Given the description of an element on the screen output the (x, y) to click on. 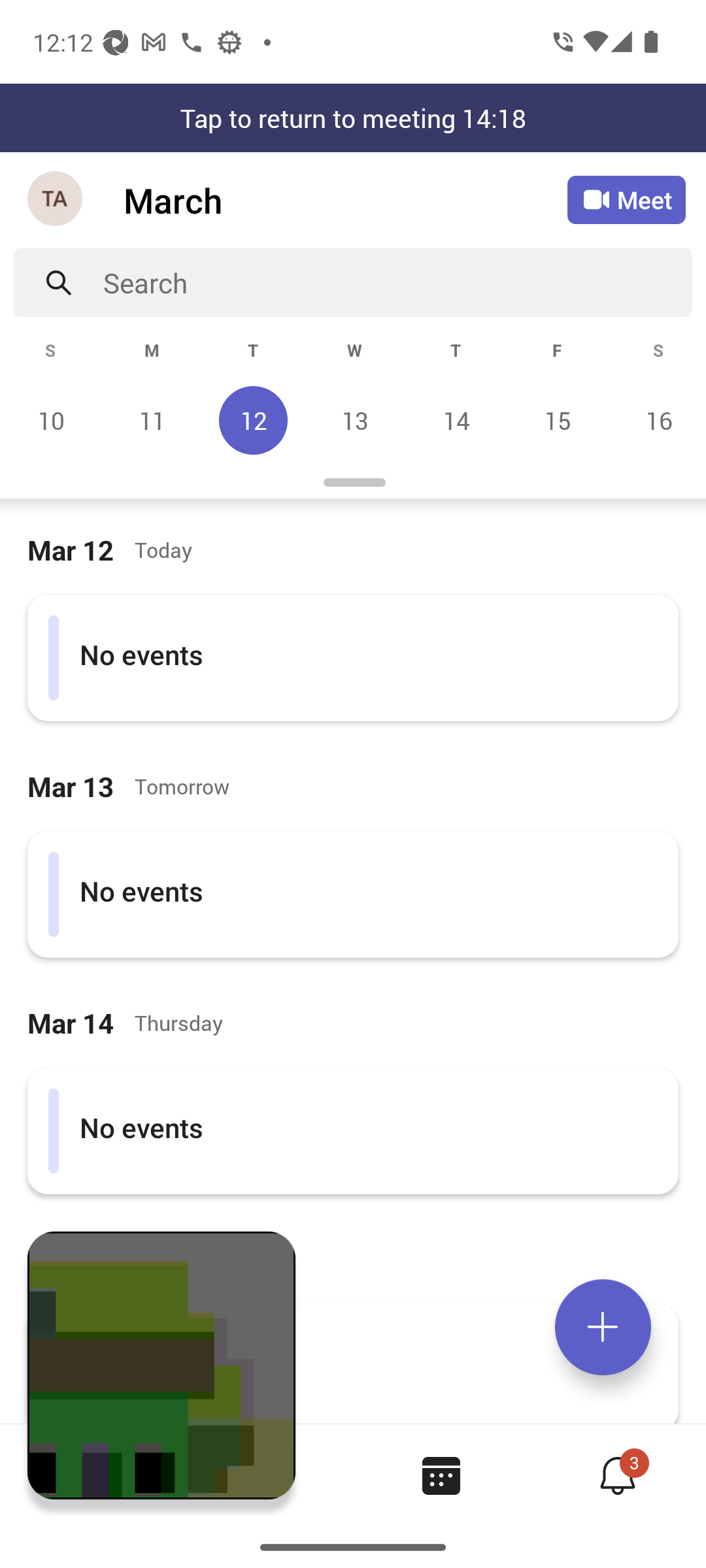
Tap to return to meeting 14:18 (353, 117)
Navigation (56, 199)
Meet Meet now or join with an ID (626, 199)
March March Calendar Agenda View (345, 199)
Search (397, 281)
Sunday, March 10 10 (50, 420)
Monday, March 11 11 (151, 420)
Tuesday, March 12, Today, Selected 12 (253, 420)
Wednesday, March 13 13 (354, 420)
Thursday, March 14 14 (455, 420)
Friday, March 15 15 (556, 420)
Saturday, March 16 16 (656, 420)
Expand meetings menu (602, 1327)
Calendar tab, 3 of 4 (441, 1475)
Activity tab,4 of 4, not selected, 3 new 3 (617, 1475)
